Given the description of an element on the screen output the (x, y) to click on. 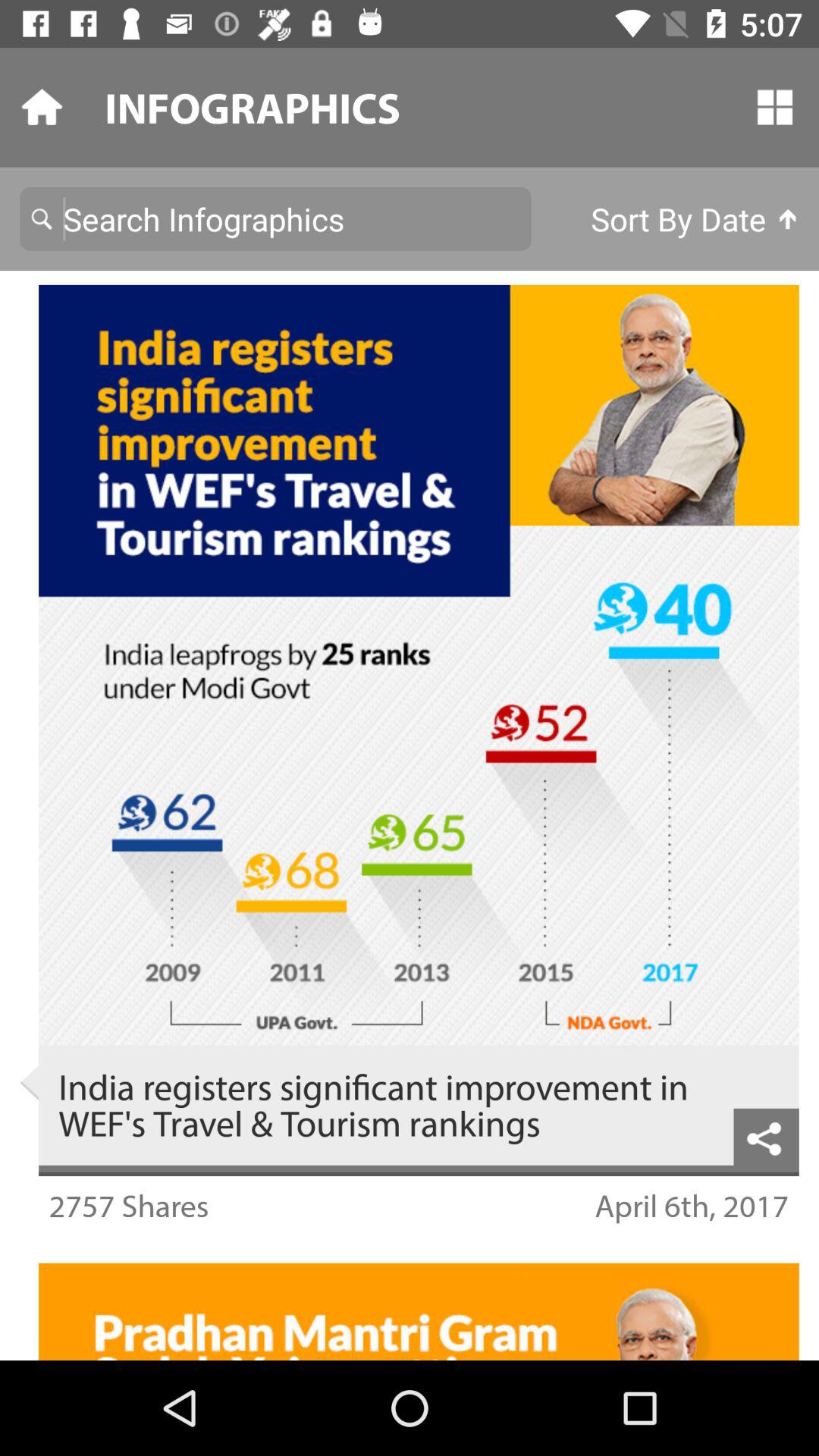
click on the more icon at top right (775, 106)
go to the share icon (766, 1137)
